Given the description of an element on the screen output the (x, y) to click on. 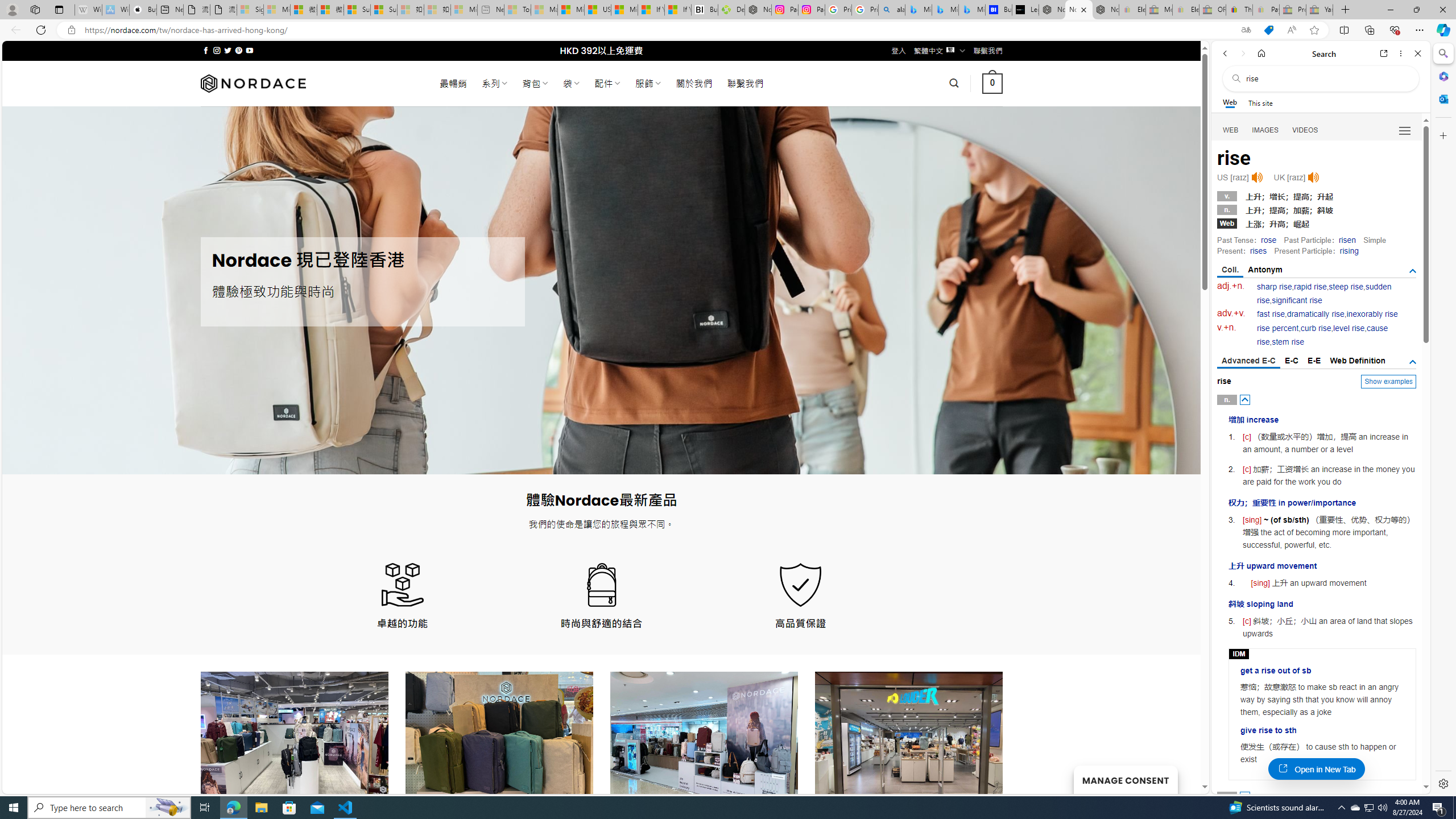
Sign in to your Microsoft account - Sleeping (249, 9)
Preferences (1403, 129)
MANAGE CONSENT (1125, 779)
sudden rise (1323, 293)
